Given the description of an element on the screen output the (x, y) to click on. 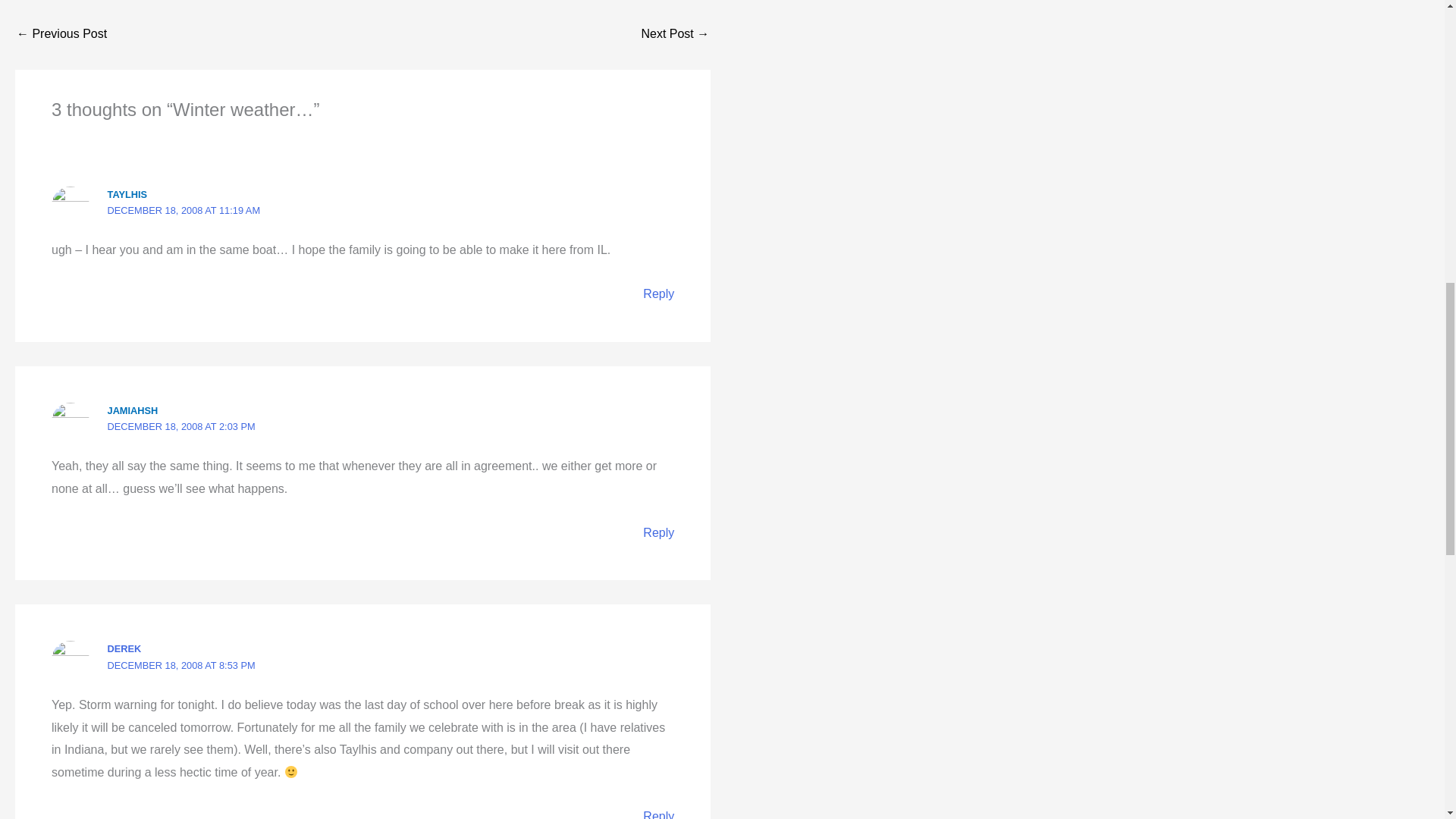
For The Love Of Shat (674, 33)
DECEMBER 18, 2008 AT 8:53 PM (181, 665)
DECEMBER 18, 2008 AT 11:19 AM (183, 210)
DEREK (124, 648)
Reply (658, 532)
Reply (658, 814)
DECEMBER 18, 2008 AT 2:03 PM (181, 426)
Reply (658, 293)
